Given the description of an element on the screen output the (x, y) to click on. 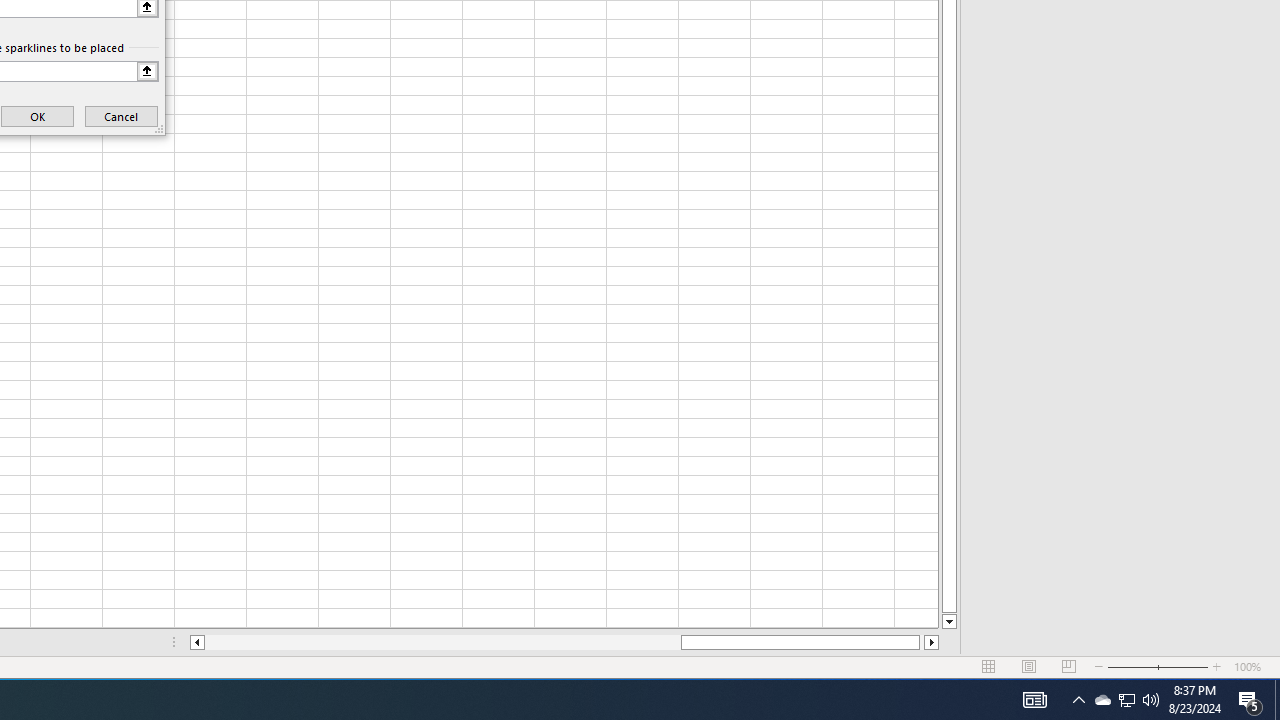
Page Break Preview (1069, 667)
Zoom Out (1131, 667)
Zoom (1158, 667)
Page left (442, 642)
Column right (932, 642)
Normal (988, 667)
Zoom In (1217, 667)
Line down (948, 622)
Class: NetUIScrollBar (564, 642)
Column left (196, 642)
Page right (922, 642)
